Given the description of an element on the screen output the (x, y) to click on. 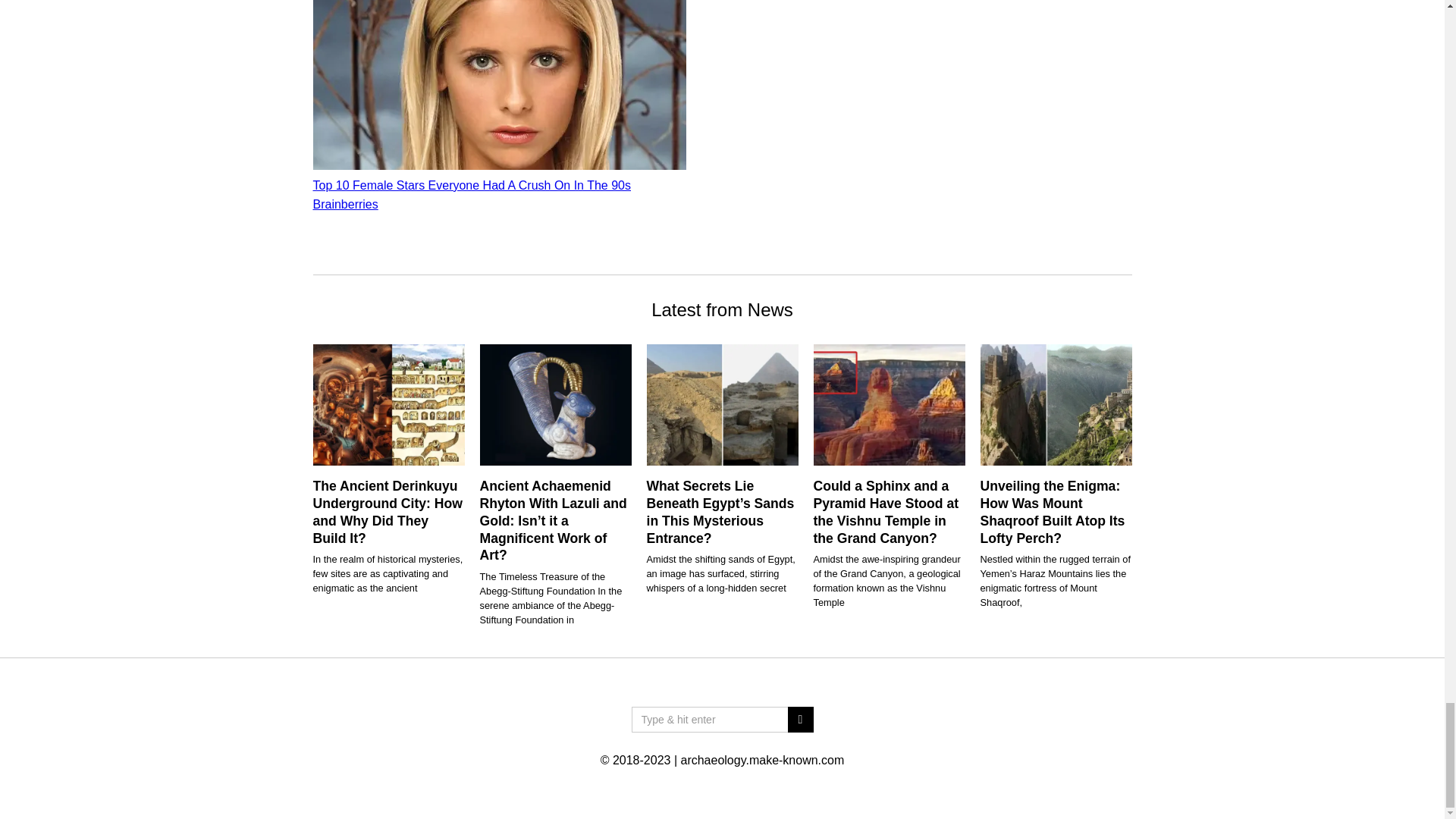
Go (799, 719)
